Given the description of an element on the screen output the (x, y) to click on. 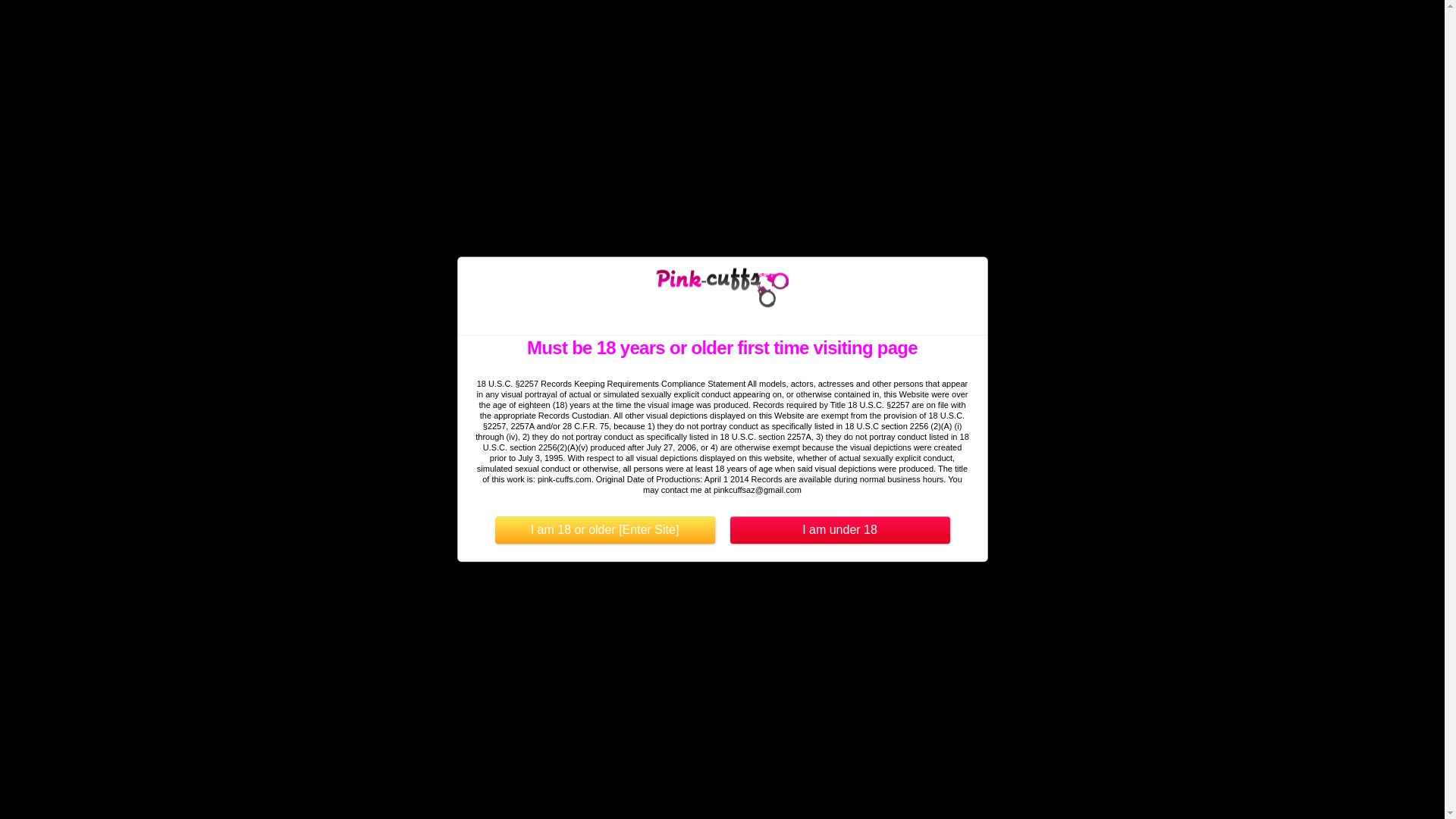
FAQ (864, 26)
LINKS (812, 26)
I am under 18 (839, 530)
